Given the description of an element on the screen output the (x, y) to click on. 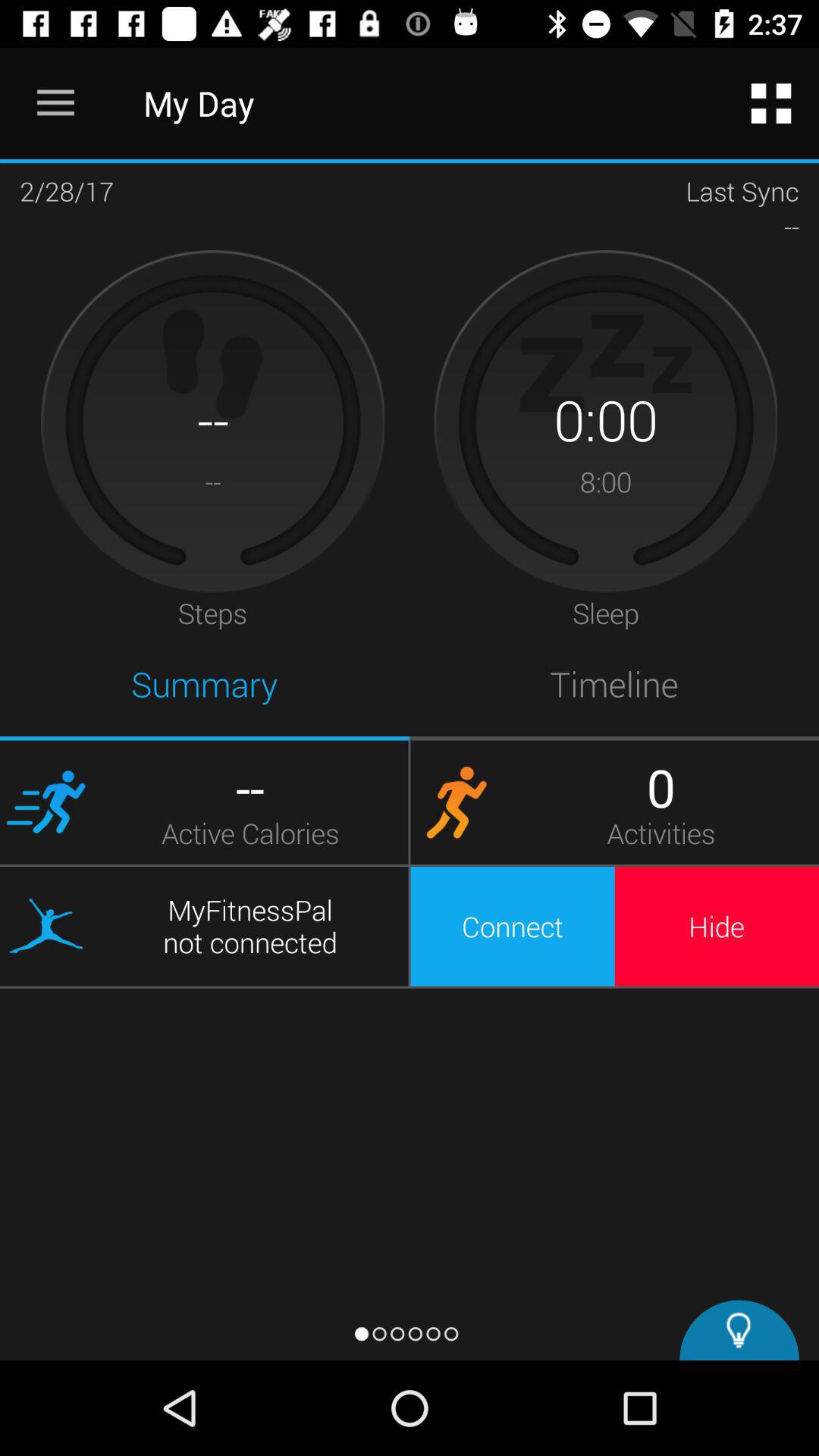
turn off hide icon (716, 926)
